Given the description of an element on the screen output the (x, y) to click on. 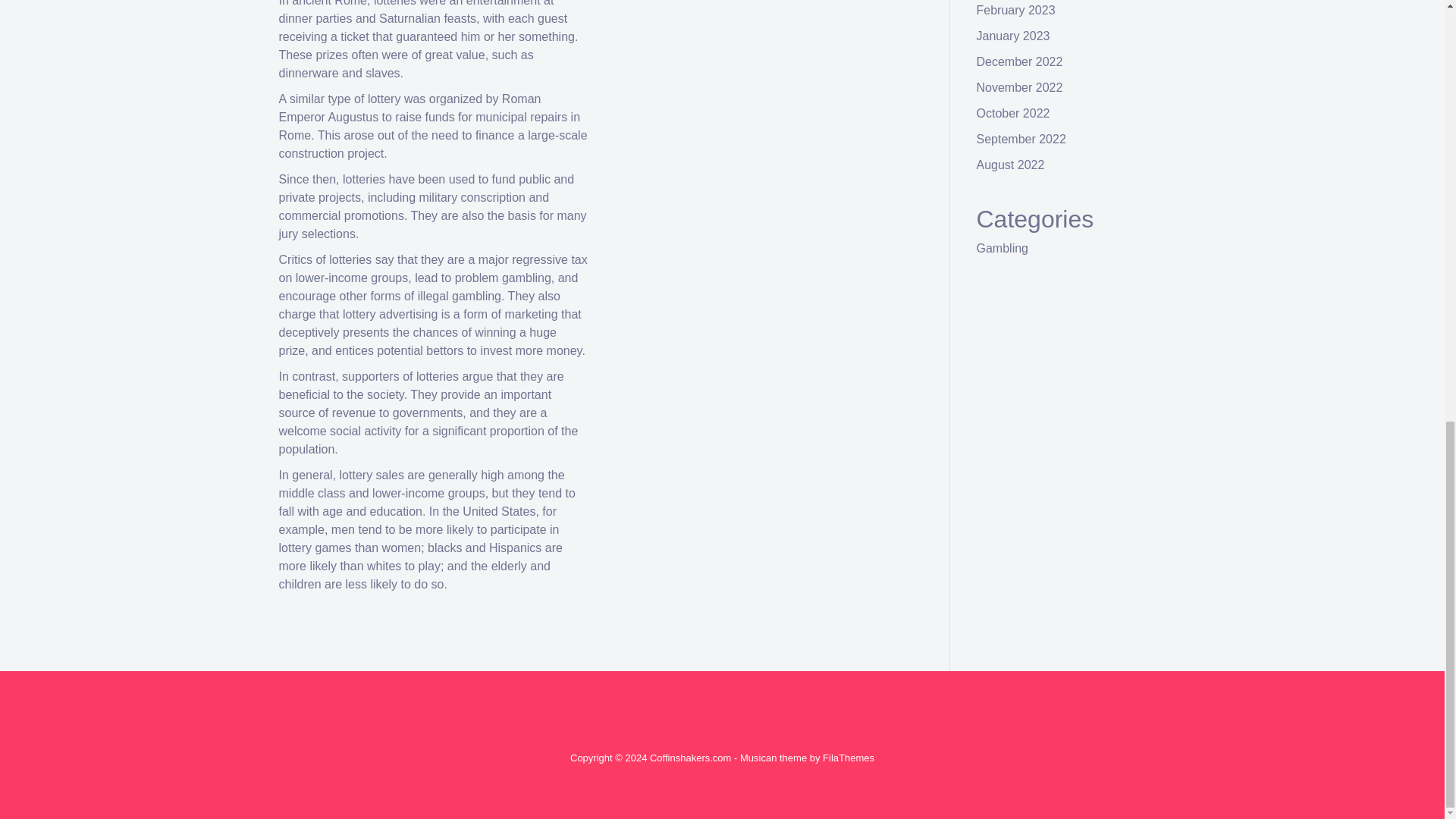
Gambling (1001, 247)
Coffinshakers.com (689, 757)
February 2023 (1015, 10)
January 2023 (1012, 35)
December 2022 (1019, 61)
August 2022 (1010, 164)
October 2022 (1012, 113)
September 2022 (1020, 138)
November 2022 (1019, 87)
